Given the description of an element on the screen output the (x, y) to click on. 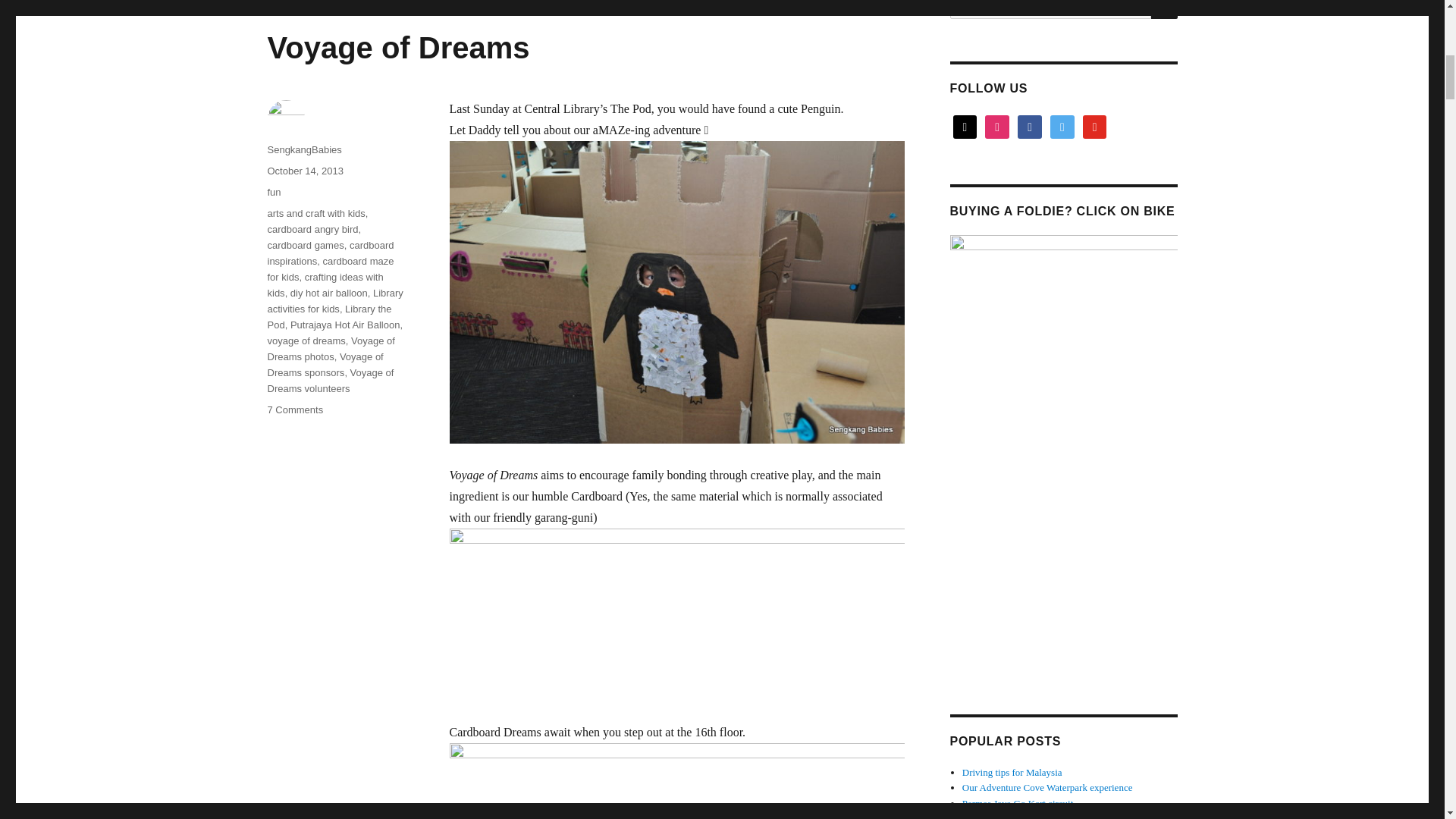
Voyage of Dreams poster (676, 614)
201310131 (676, 780)
Voyage of Dreams (397, 47)
